Given the description of an element on the screen output the (x, y) to click on. 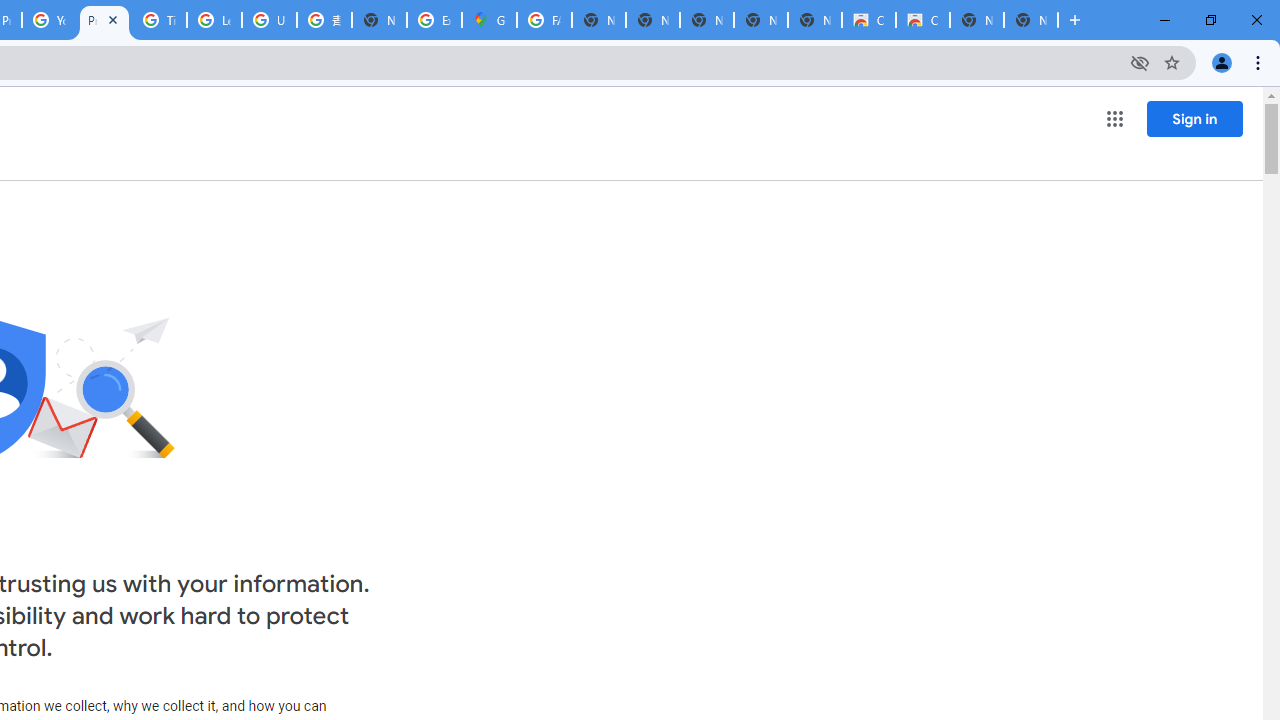
New Tab (379, 20)
Explore new street-level details - Google Maps Help (434, 20)
Google Maps (489, 20)
Tips & tricks for Chrome - Google Chrome Help (158, 20)
Classic Blue - Chrome Web Store (922, 20)
